Given the description of an element on the screen output the (x, y) to click on. 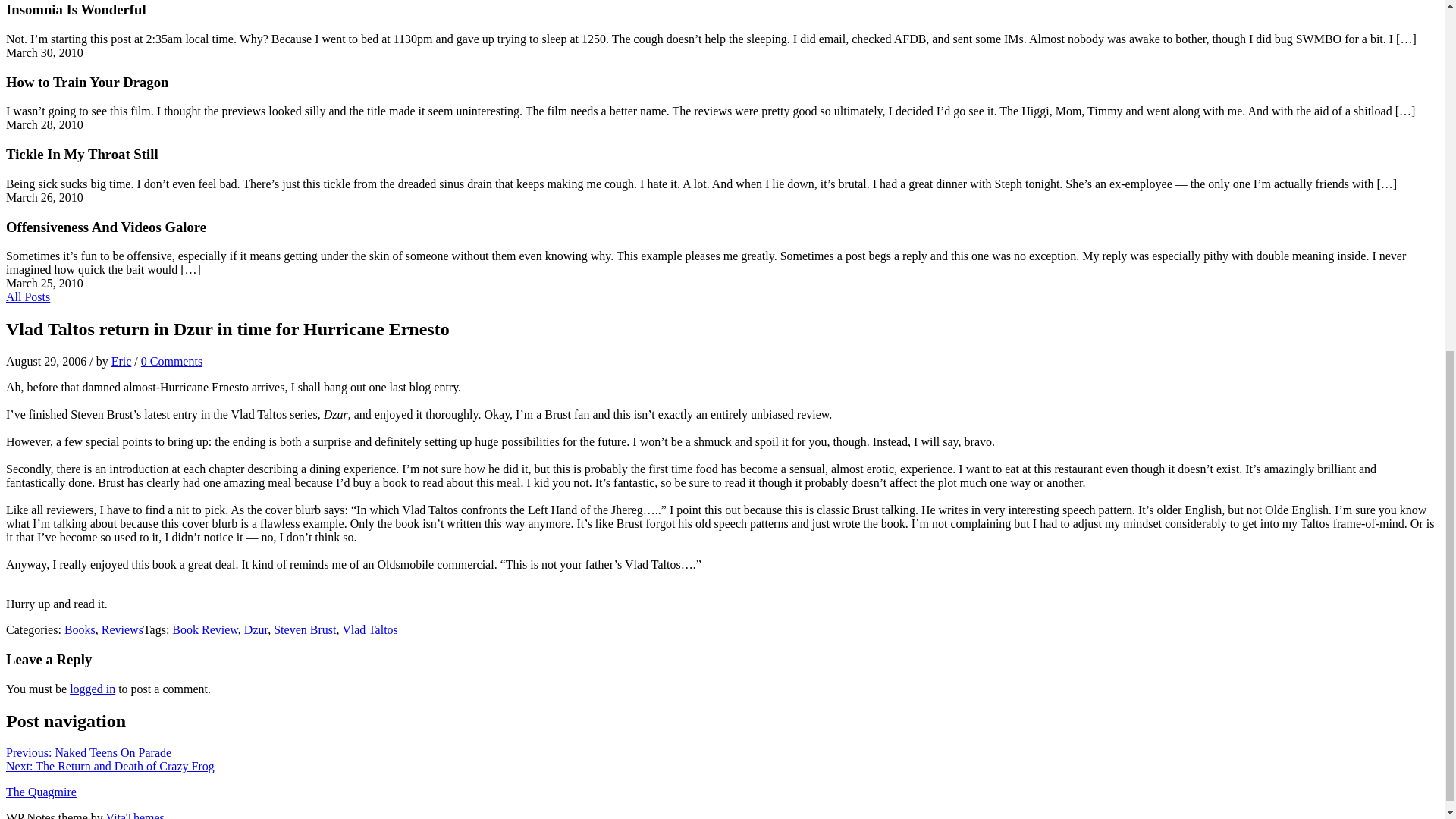
Steven Brust (304, 629)
Dzur (255, 629)
Reviews (121, 629)
All Posts (27, 296)
Vlad Taltos (369, 629)
0 Comments (171, 360)
Books (80, 629)
Book Review (204, 629)
Previous: Naked Teens On Parade (88, 752)
Next: The Return and Death of Crazy Frog (109, 766)
